Given the description of an element on the screen output the (x, y) to click on. 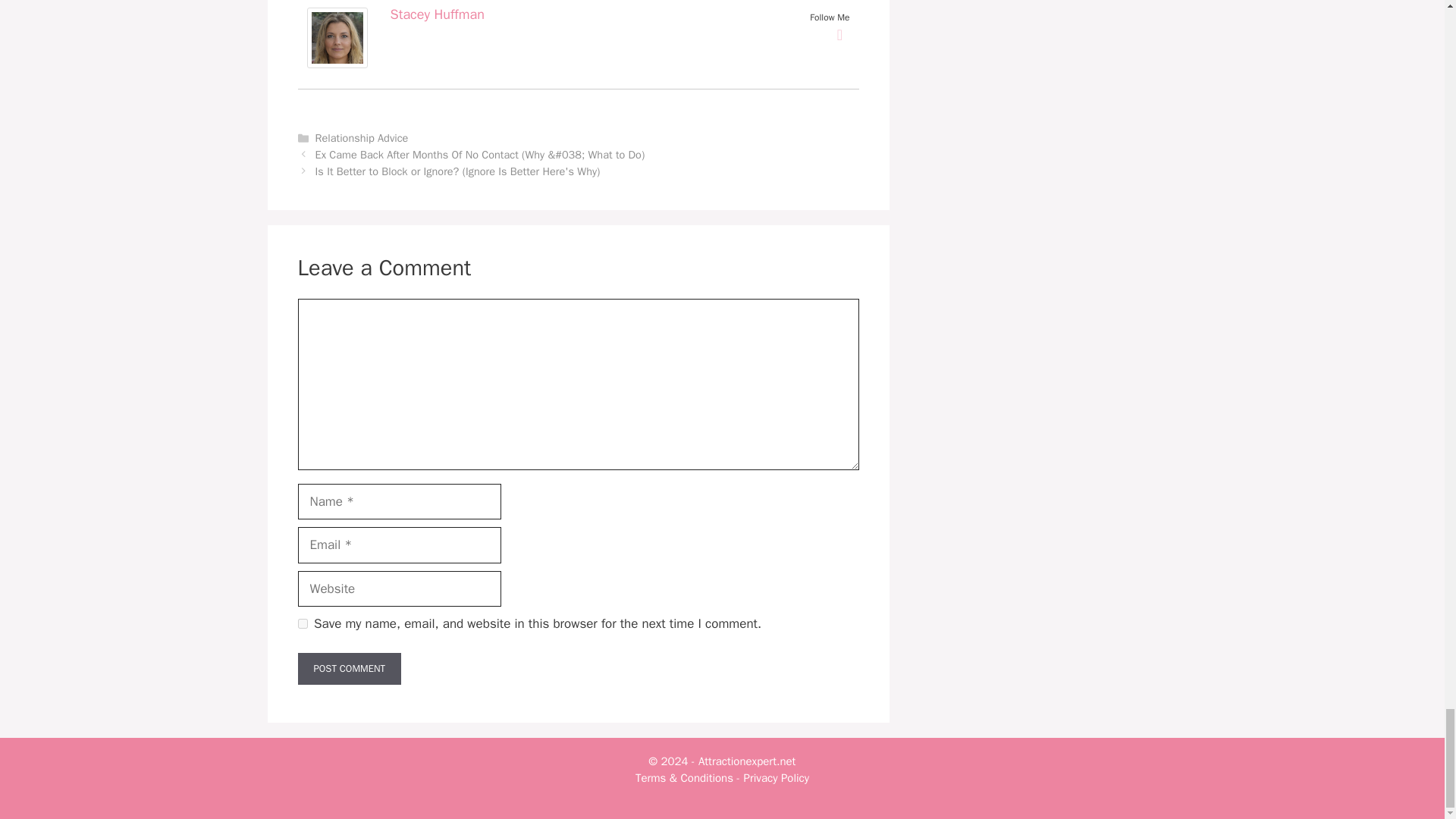
Relationship Advice (362, 137)
Stacey Huffman (436, 13)
Twitter (839, 34)
Stacey Huffman (335, 64)
Post Comment (349, 668)
Privacy Policy (776, 777)
yes (302, 623)
Post Comment (349, 668)
